Given the description of an element on the screen output the (x, y) to click on. 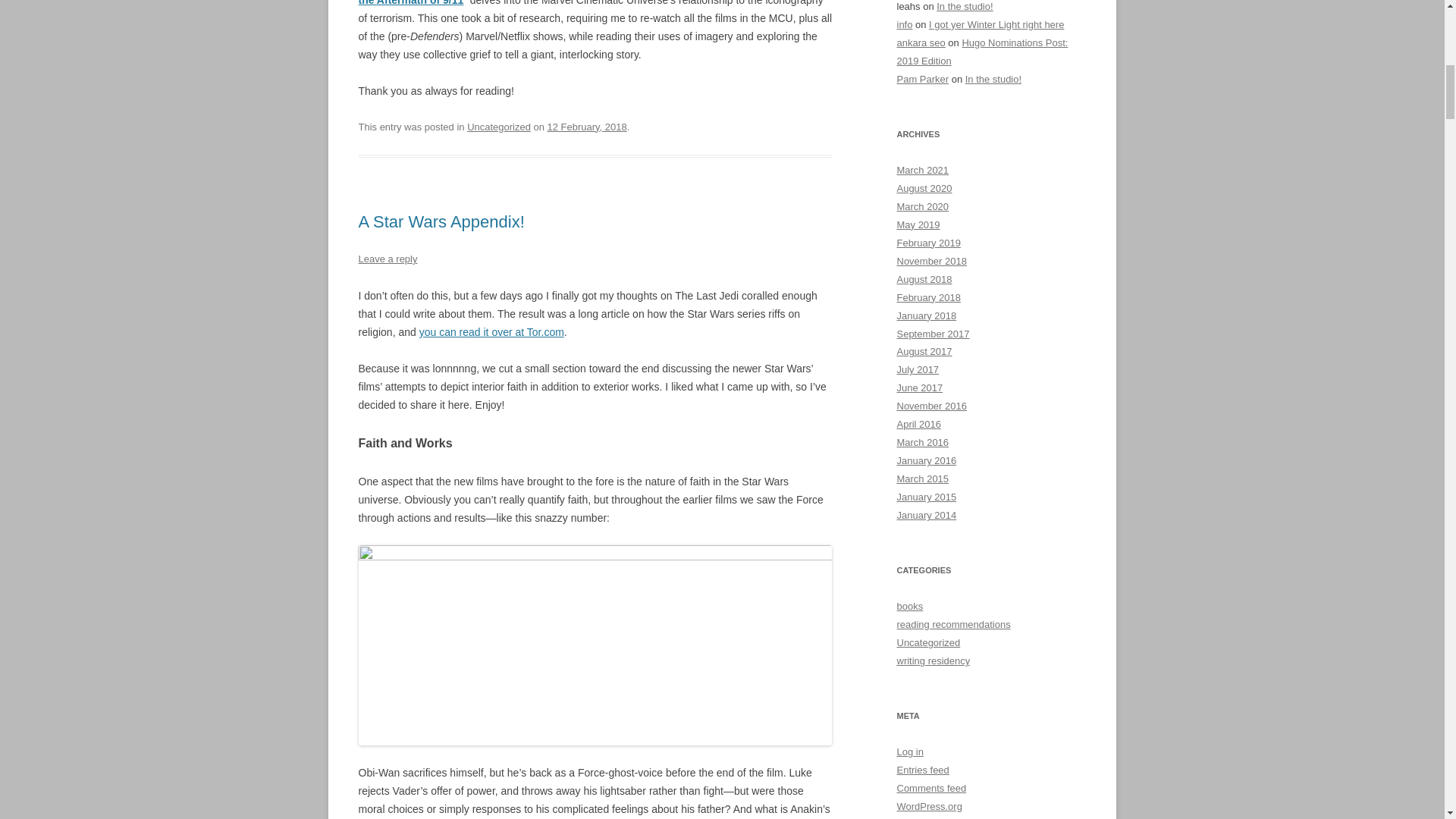
Uncategorized (499, 126)
12 February, 2018 (587, 126)
you can read it over at Tor.com (491, 331)
Leave a reply (387, 258)
9:25 am (587, 126)
A Star Wars Appendix! (441, 221)
